Given the description of an element on the screen output the (x, y) to click on. 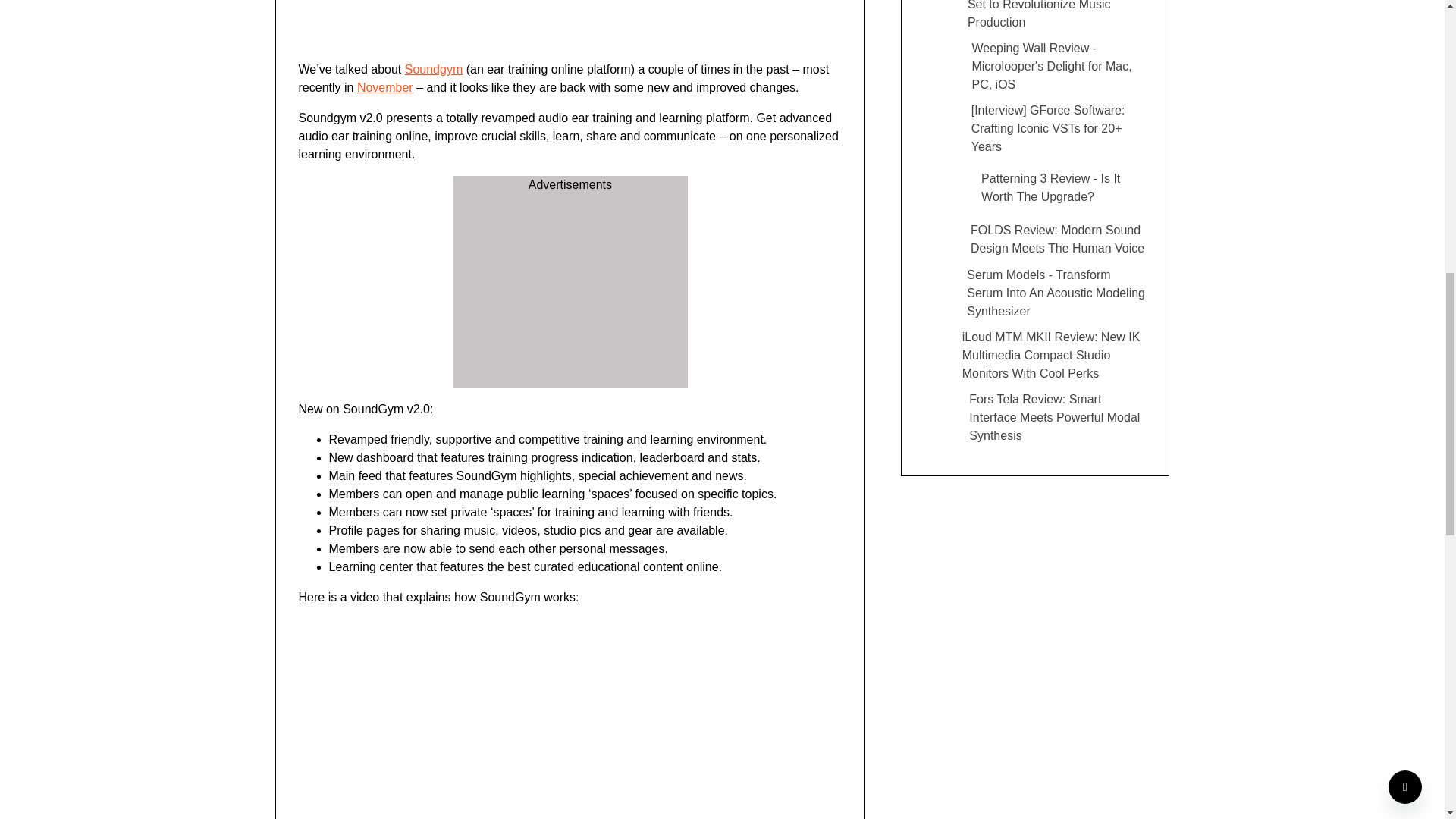
SoundGym: Audio Ear Training Platform online (541, 712)
Patterning 3 Review - Is It Worth The Upgrade? (1034, 187)
FOLDS Review: Modern Sound Design Meets The Human Voice (1034, 239)
Soundgym (433, 69)
Weeping Wall Review - Microlooper's Delight for Mac, PC, iOS (1034, 66)
November (384, 87)
